Given the description of an element on the screen output the (x, y) to click on. 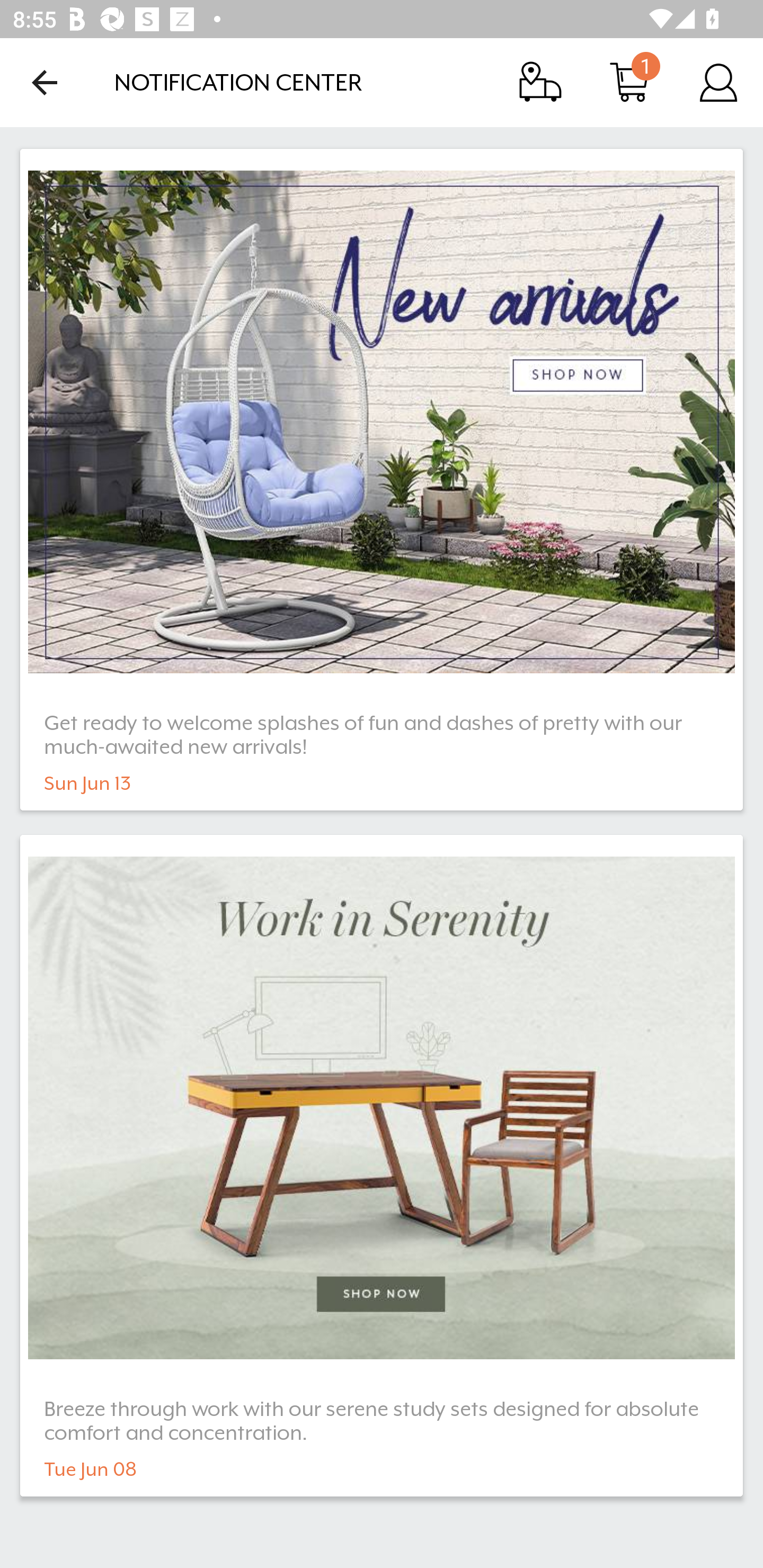
Navigate up (44, 82)
Track Order (540, 81)
Cart (629, 81)
Account Details (718, 81)
